Given the description of an element on the screen output the (x, y) to click on. 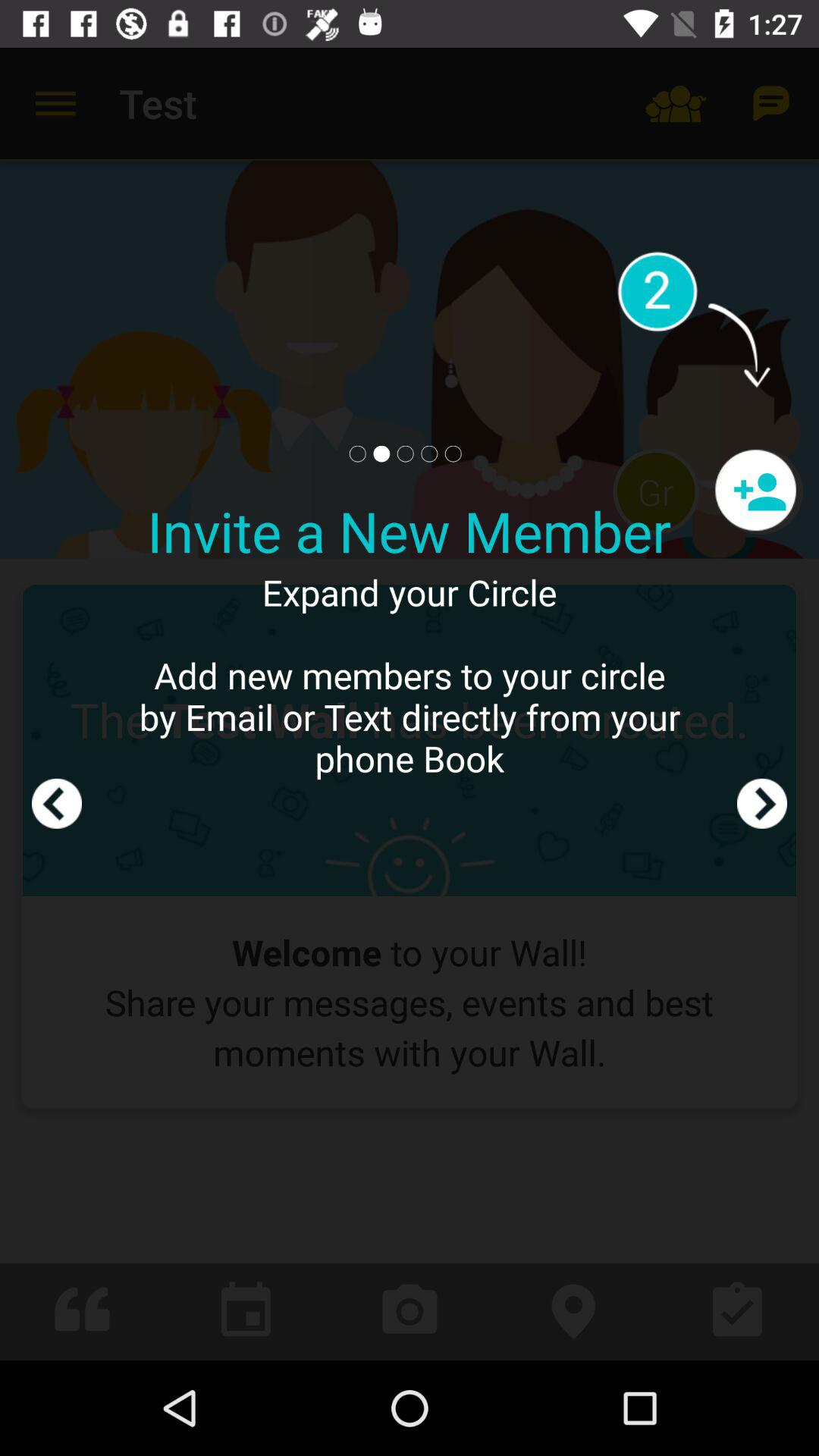
go to previous slide (56, 703)
